Given the description of an element on the screen output the (x, y) to click on. 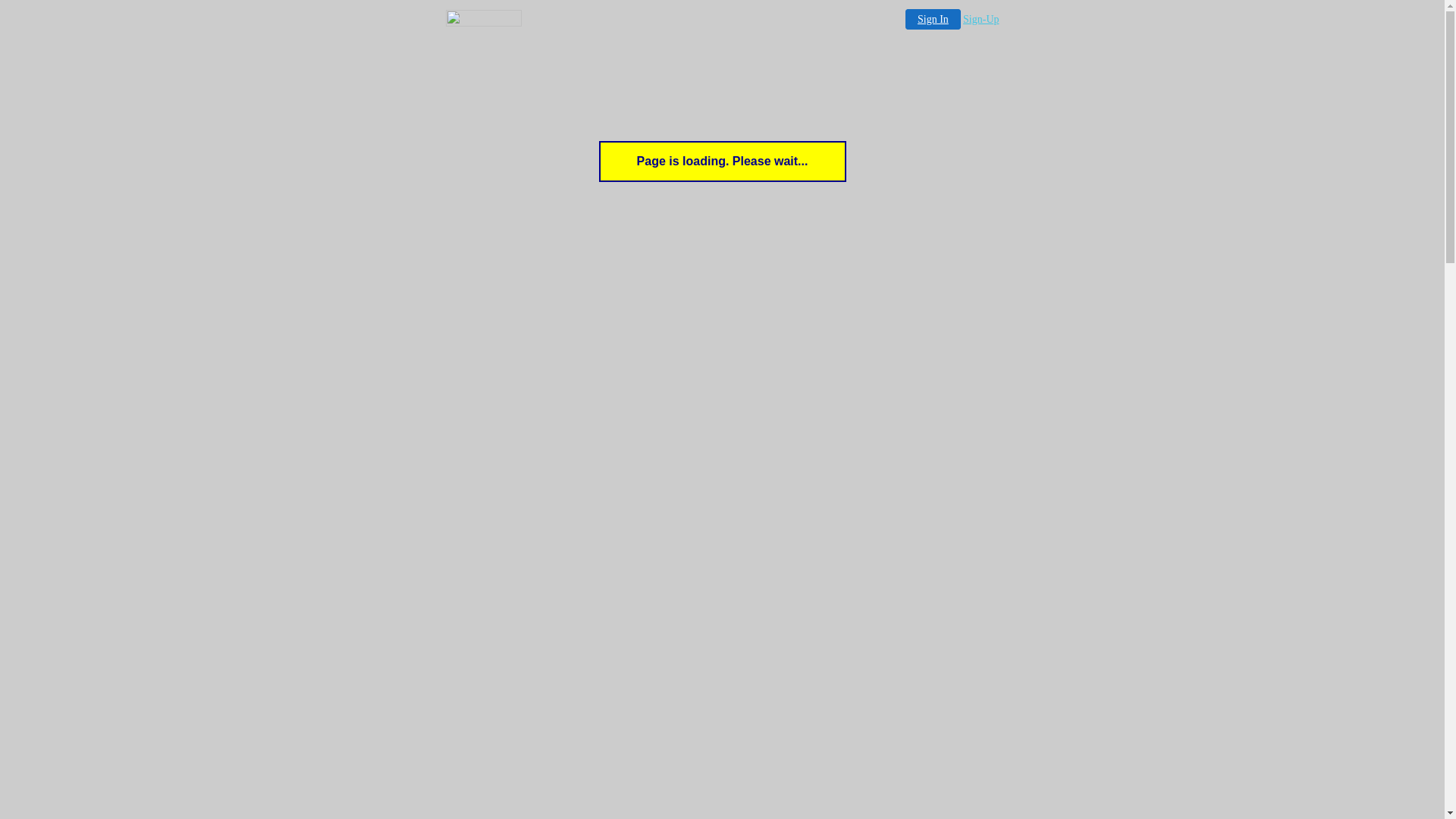
Sign In Element type: text (932, 19)
Sign-Up Element type: text (980, 19)
